Given the description of an element on the screen output the (x, y) to click on. 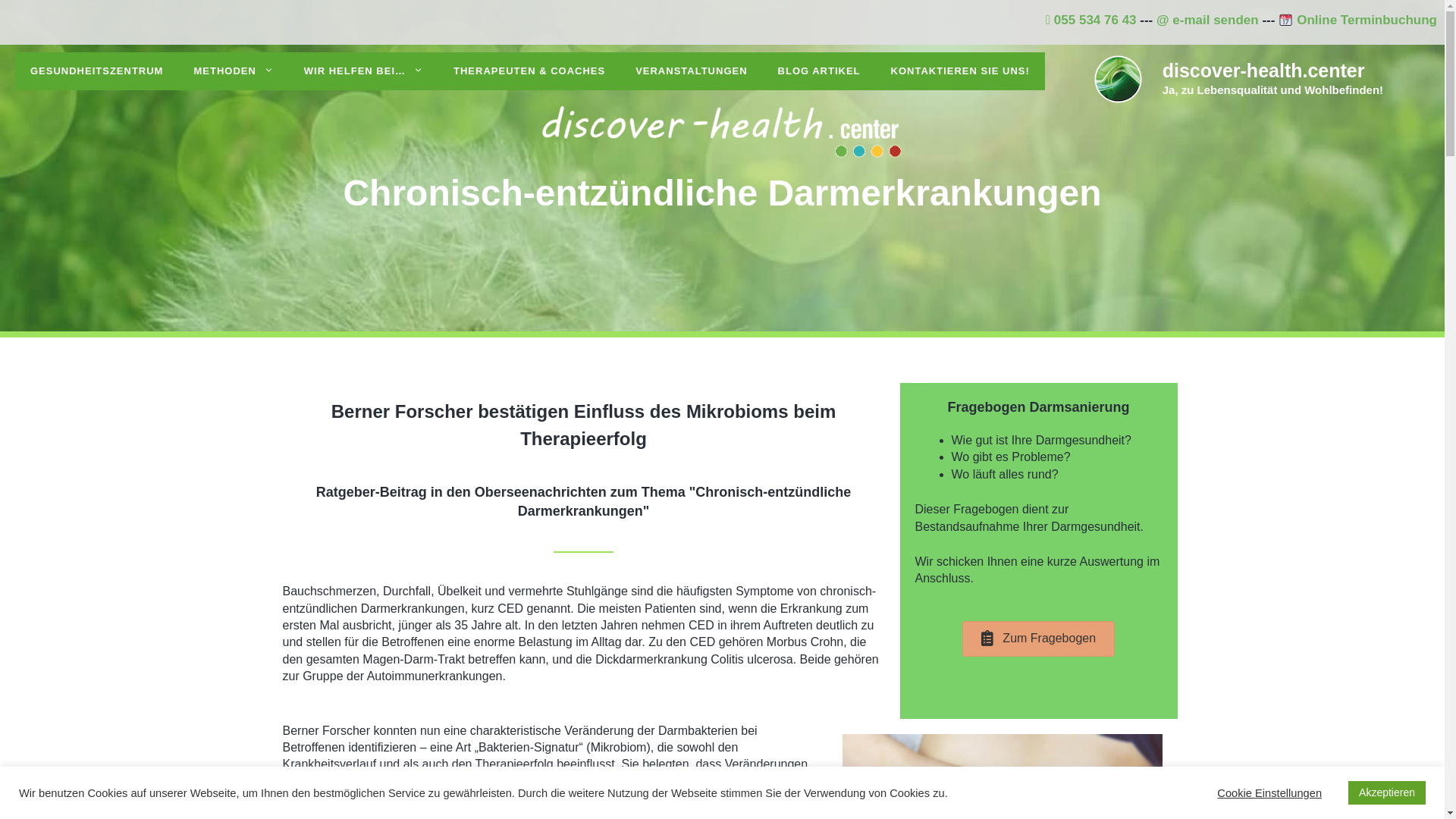
@ e-mail senden Element type: text (1207, 19)
Zum Fragebogen Element type: text (1038, 638)
VERANSTALTUNGEN Element type: text (691, 71)
THERAPEUTEN & COACHES Element type: text (529, 71)
Akzeptieren Element type: text (1386, 792)
KONTAKTIEREN SIE UNS! Element type: text (959, 71)
METHODEN Element type: text (233, 71)
BLOG ARTIKEL Element type: text (818, 71)
GESUNDHEITSZENTRUM Element type: text (96, 71)
discover-health.center Element type: text (1263, 70)
Cookie Einstellungen Element type: text (1269, 792)
Online Terminbuchung Element type: text (1357, 19)
